Given the description of an element on the screen output the (x, y) to click on. 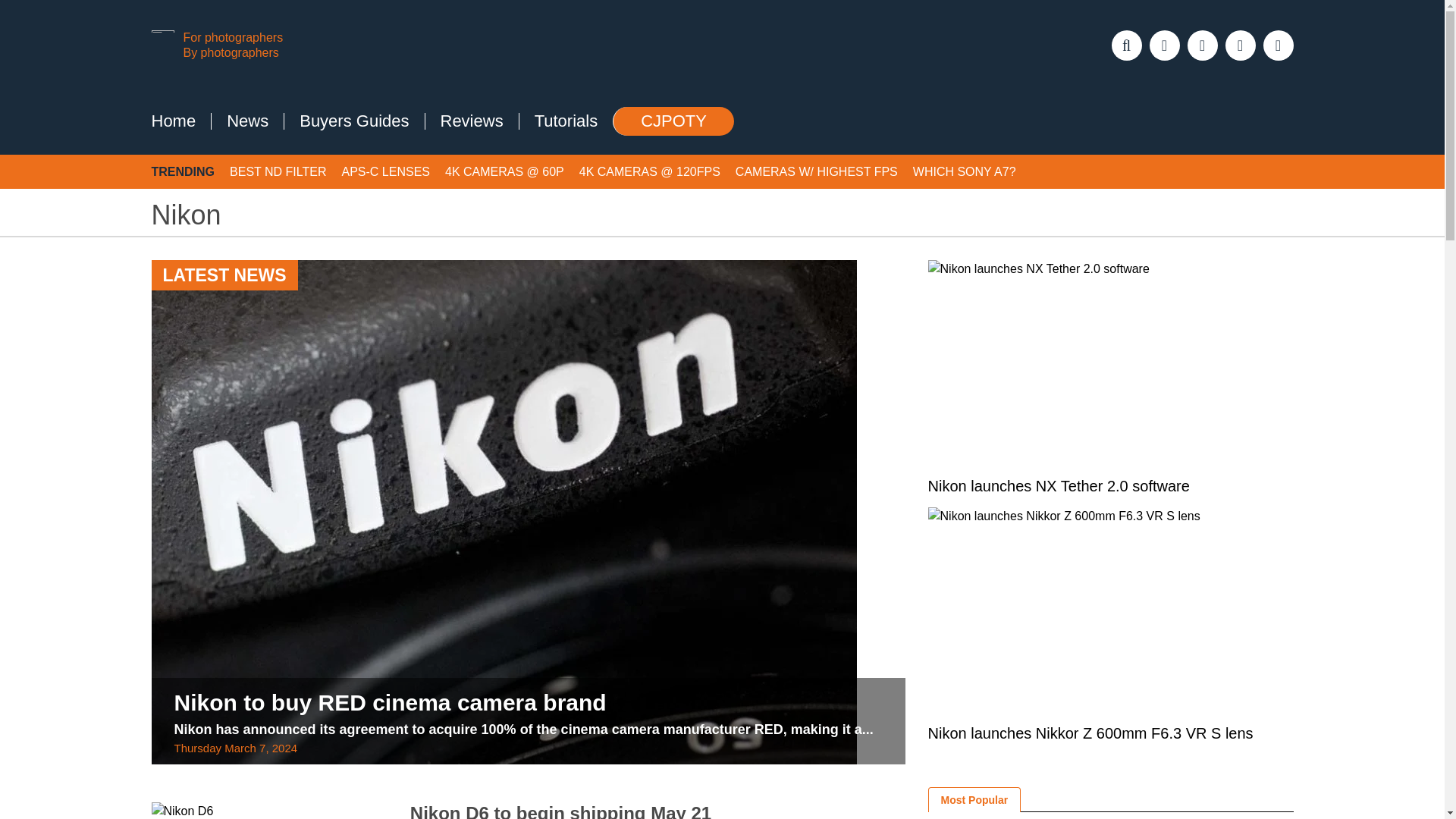
Nikon D6 to begin shipping May 21 (560, 812)
Buyers Guides (353, 125)
BEST ND FILTER (277, 176)
Home (173, 125)
Camera Jabber (309, 47)
WHICH SONY A7? (964, 176)
Search (26, 16)
CJPOTY (674, 125)
Nikon launches NX Tether 2.0 software (1111, 366)
Nikon launches Nikkor Z 600mm F6.3 VR S lens (1111, 613)
Nikon D6 to begin shipping May 21 (560, 812)
News (247, 125)
Nikon D6 to begin shipping May 21 (269, 812)
APS-C LENSES (384, 176)
